Given the description of an element on the screen output the (x, y) to click on. 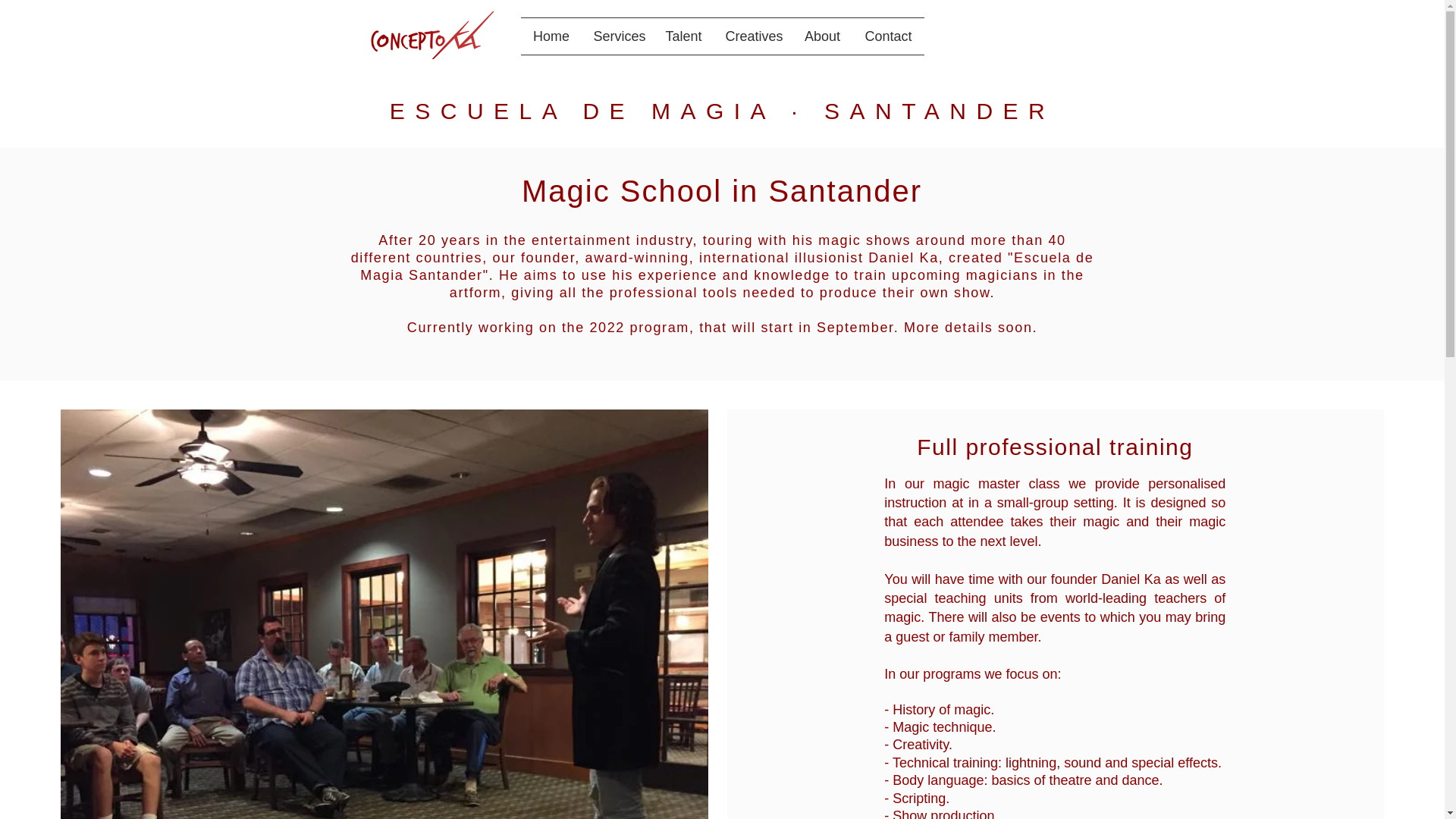
Creatives (753, 36)
Services (617, 36)
Talent (683, 36)
About (821, 36)
Contact (887, 36)
Home (549, 36)
